Given the description of an element on the screen output the (x, y) to click on. 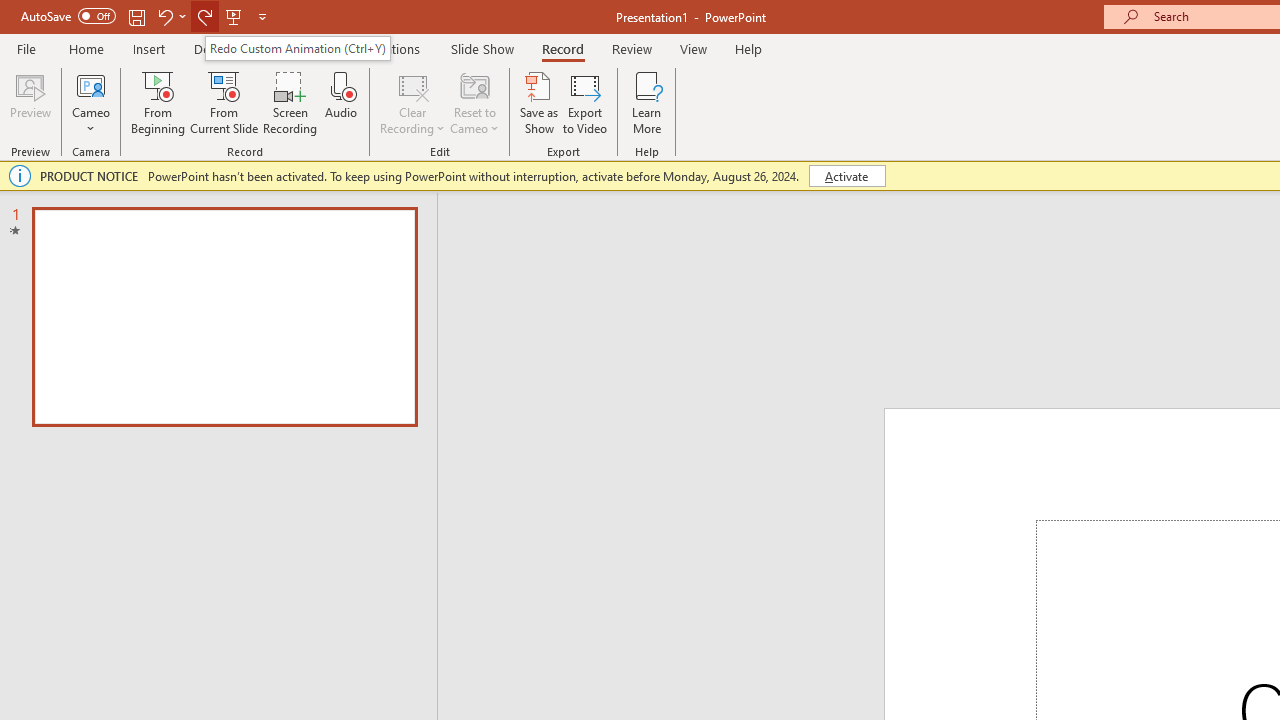
Export to Video (585, 102)
Redo Custom Animation (Ctrl+Y) (297, 48)
Screen Recording (290, 102)
Reset to Cameo (474, 102)
Learn More (646, 102)
Activate (846, 175)
